Given the description of an element on the screen output the (x, y) to click on. 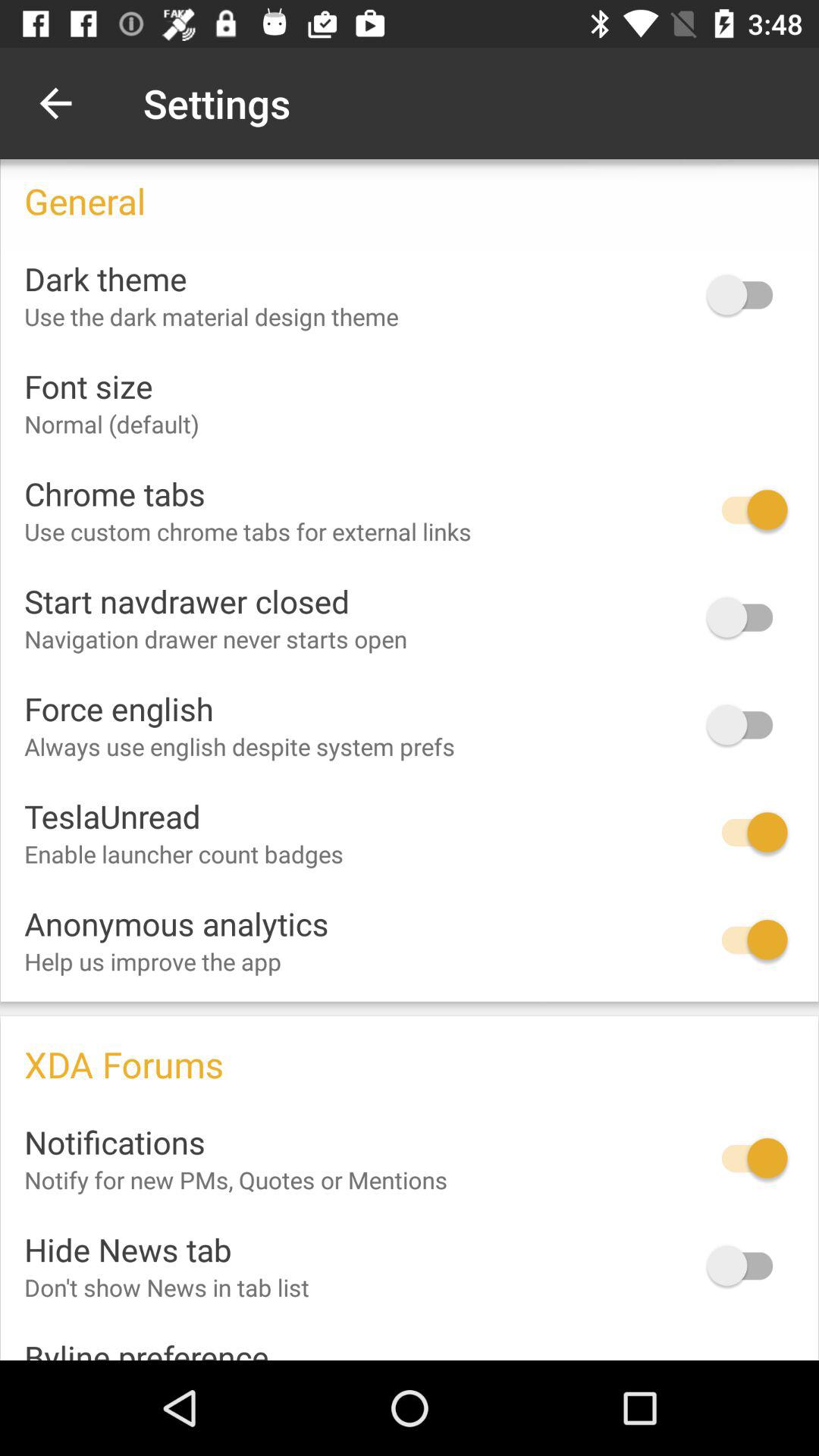
navdrawer toggle (747, 617)
